Given the description of an element on the screen output the (x, y) to click on. 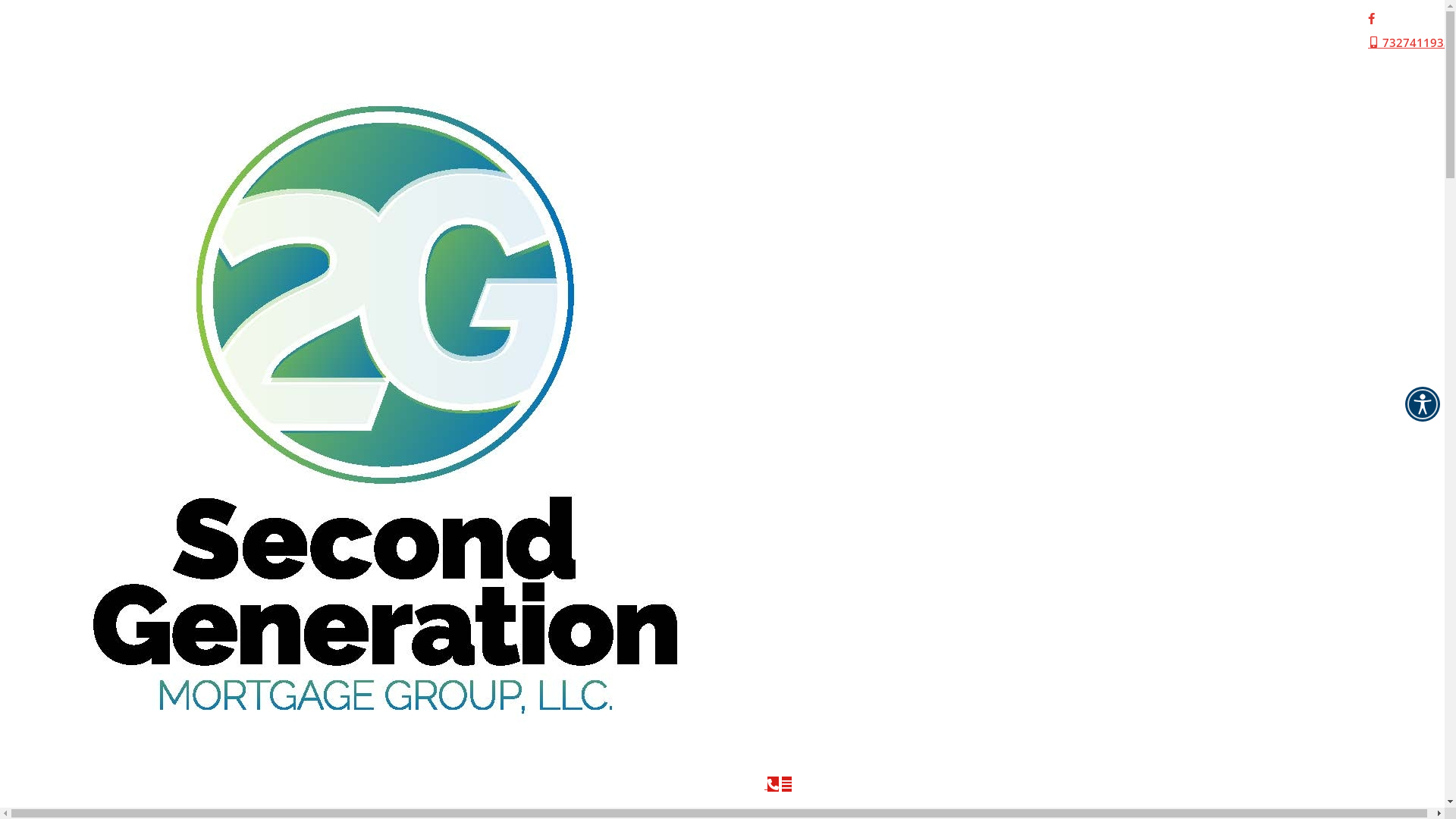
7327411933 Element type: text (1409, 42)
